Given the description of an element on the screen output the (x, y) to click on. 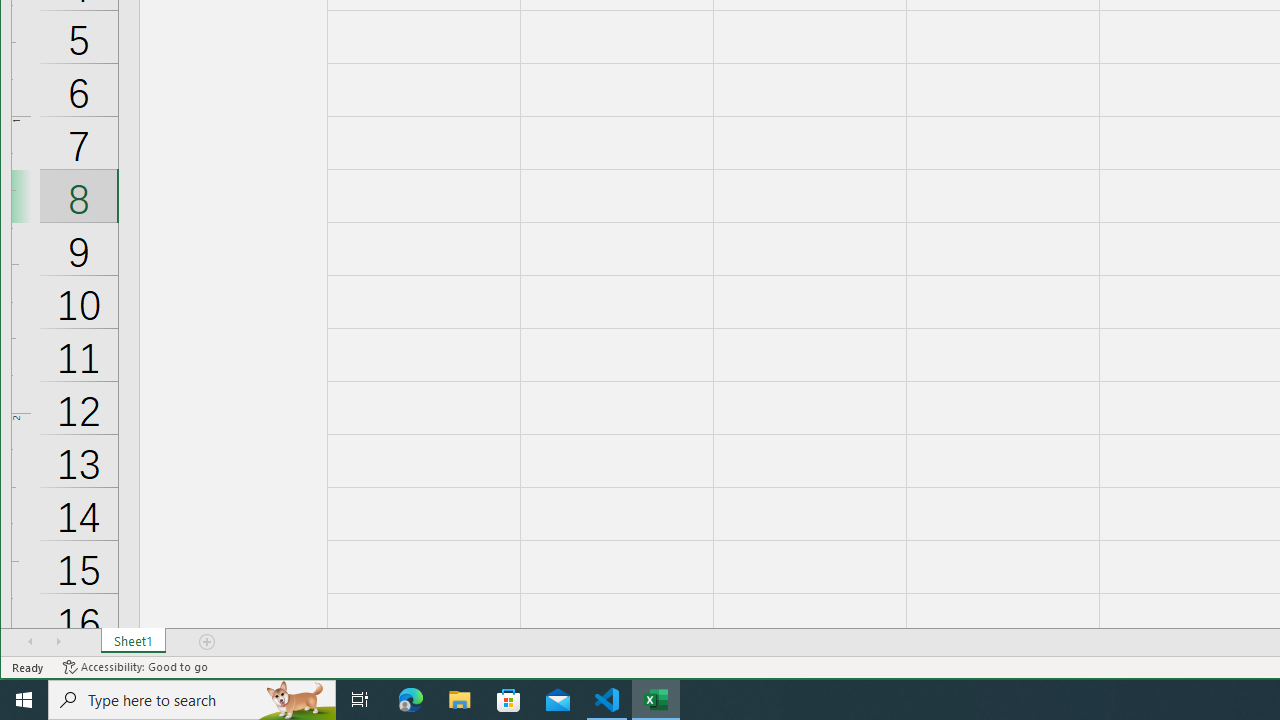
Microsoft Store (509, 699)
Add Sheet (207, 641)
Type here to search (191, 699)
Scroll Left (30, 641)
Visual Studio Code - 1 running window (607, 699)
Microsoft Edge (411, 699)
Start (24, 699)
Search highlights icon opens search home window (295, 699)
Task View (359, 699)
Sheet1 (133, 641)
File Explorer (460, 699)
Excel - 1 running window (656, 699)
Accessibility Checker Accessibility: Good to go (135, 667)
Scroll Right (58, 641)
